Given the description of an element on the screen output the (x, y) to click on. 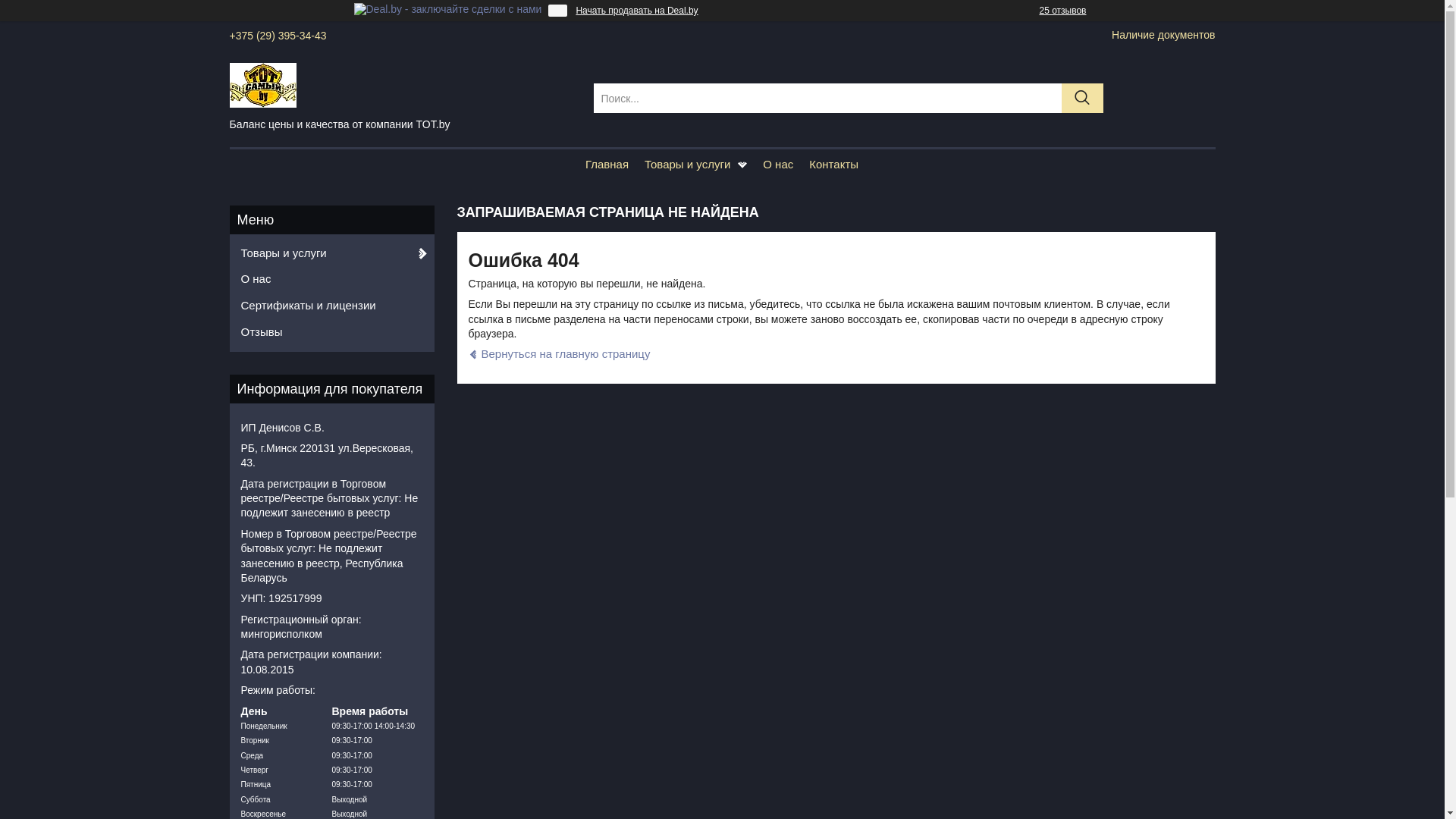
www.tot.by Element type: hover (401, 83)
